Given the description of an element on the screen output the (x, y) to click on. 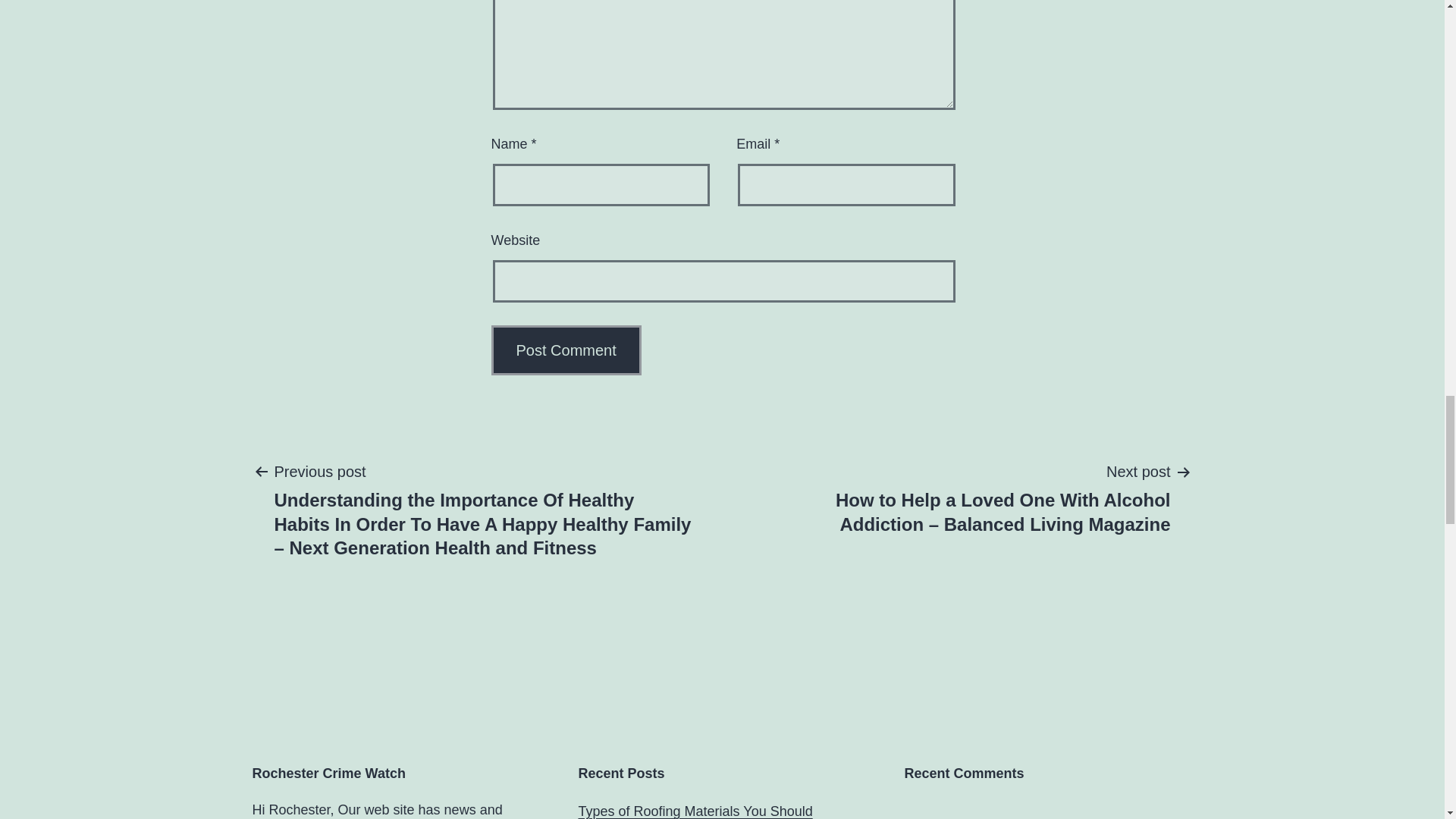
Post Comment (567, 350)
Post Comment (567, 350)
